Given the description of an element on the screen output the (x, y) to click on. 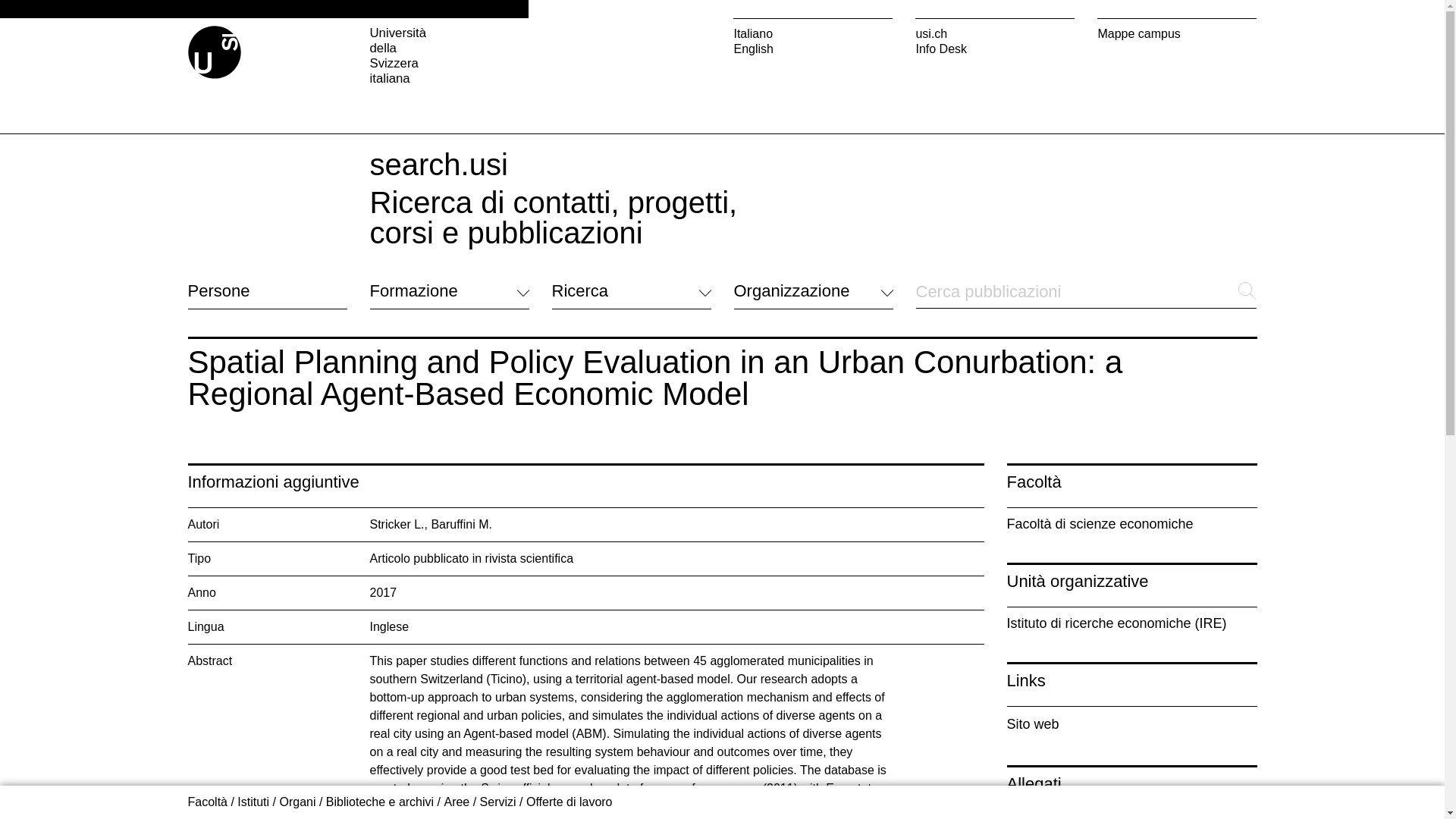
Mappe campus (1176, 33)
Feedback sul sito (234, 725)
English (812, 48)
Persone (267, 291)
Campus Mendrisio (601, 660)
Rapporto annuale (781, 686)
Iscriviti ai nostri canali (792, 704)
Baruffini M. (461, 523)
search.usi (438, 164)
Altri contatti (219, 707)
